Given the description of an element on the screen output the (x, y) to click on. 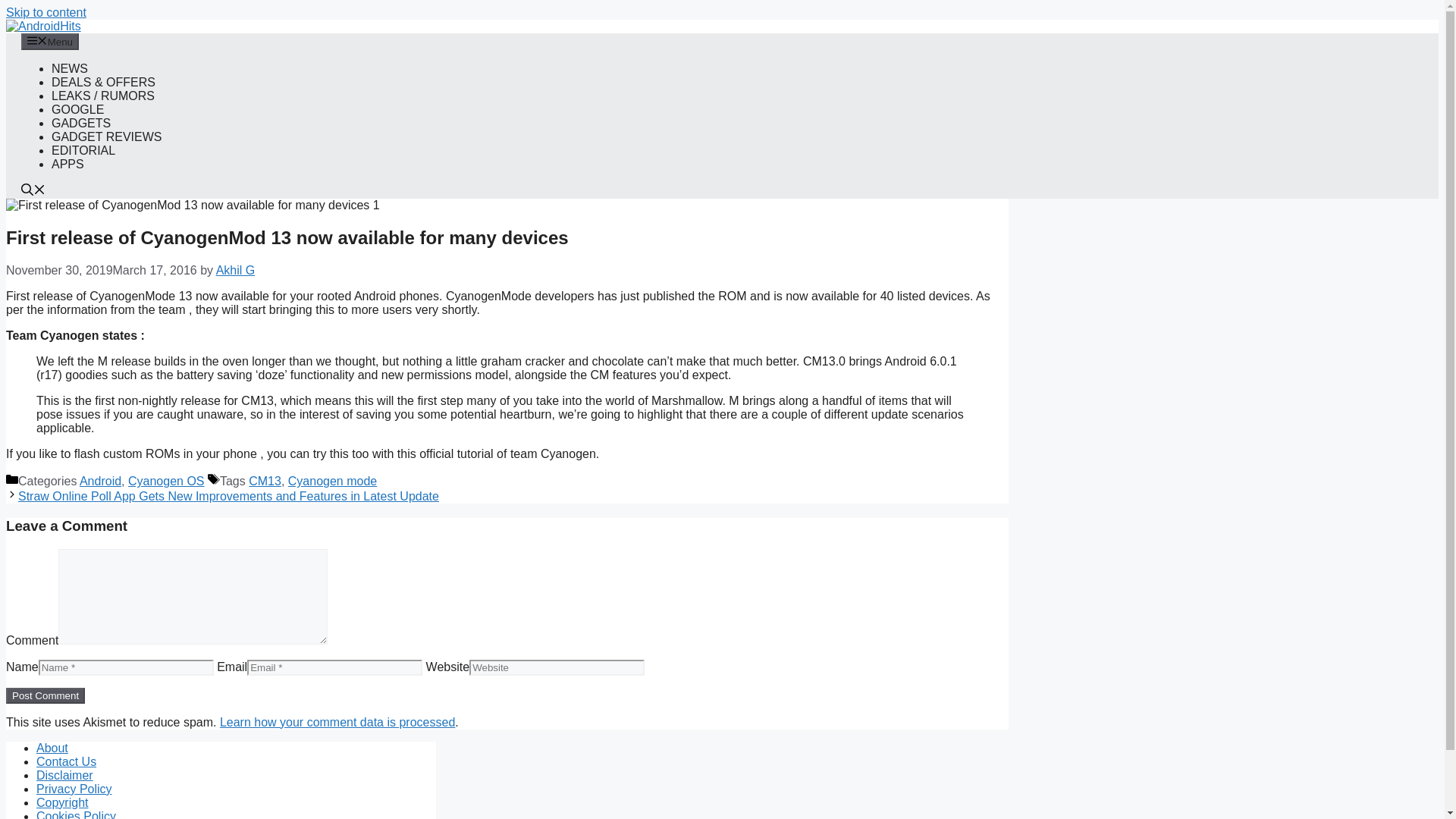
APPS (67, 164)
Cookies Policy (76, 814)
GADGET REVIEWS (105, 136)
Cyanogen OS (166, 481)
Cyanogen mode (332, 481)
Android (100, 481)
CM13 (264, 481)
Learn how your comment data is processed (336, 721)
